Given the description of an element on the screen output the (x, y) to click on. 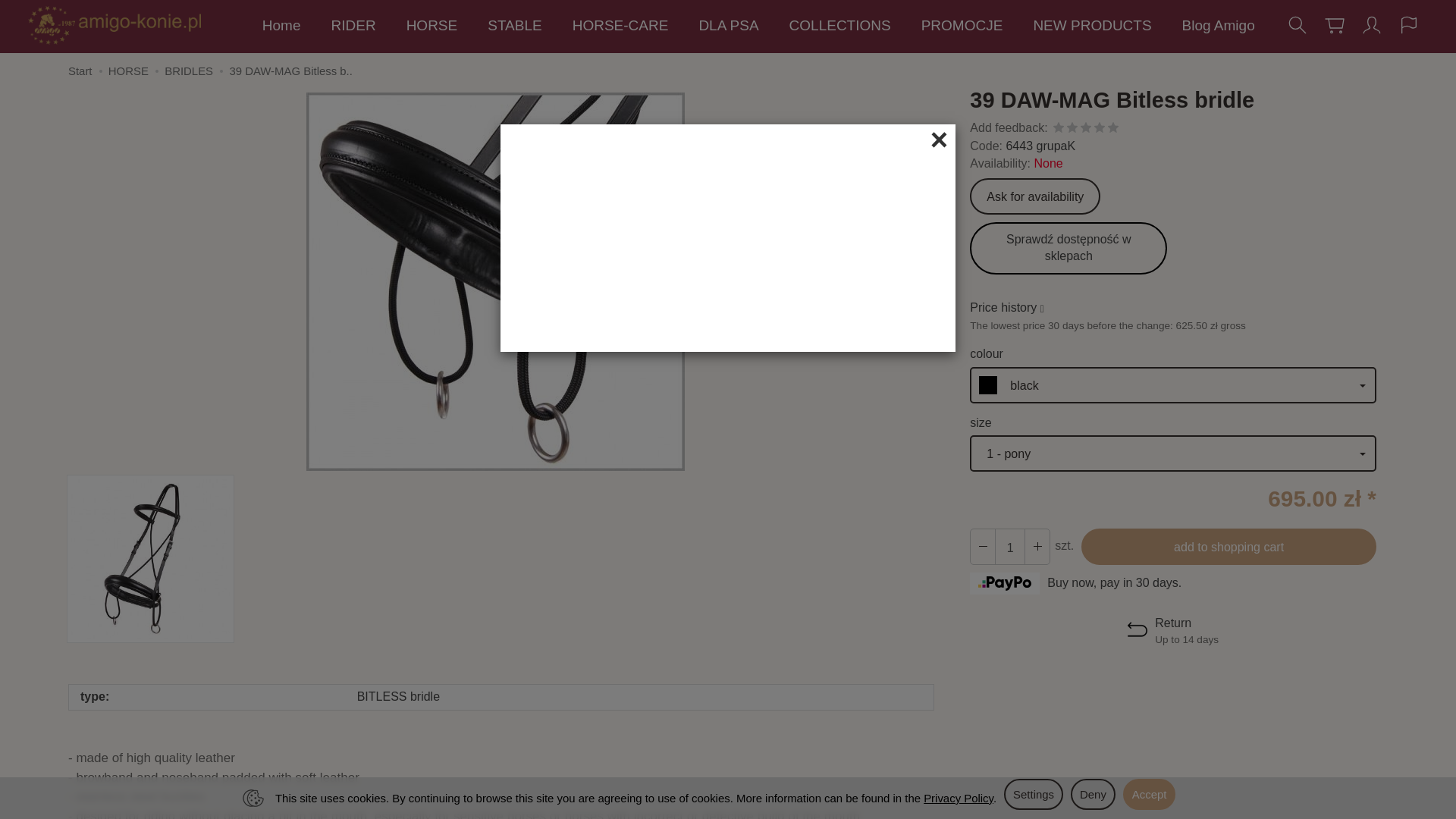
HORSE (432, 25)
STABLE (514, 25)
RIDER (353, 25)
Home (281, 25)
